Given the description of an element on the screen output the (x, y) to click on. 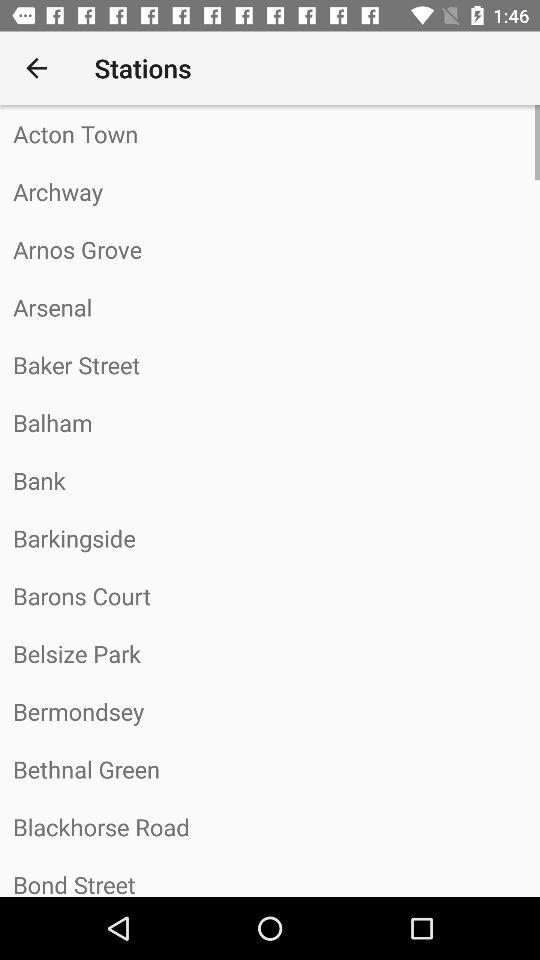
choose the item below barons court icon (270, 653)
